Given the description of an element on the screen output the (x, y) to click on. 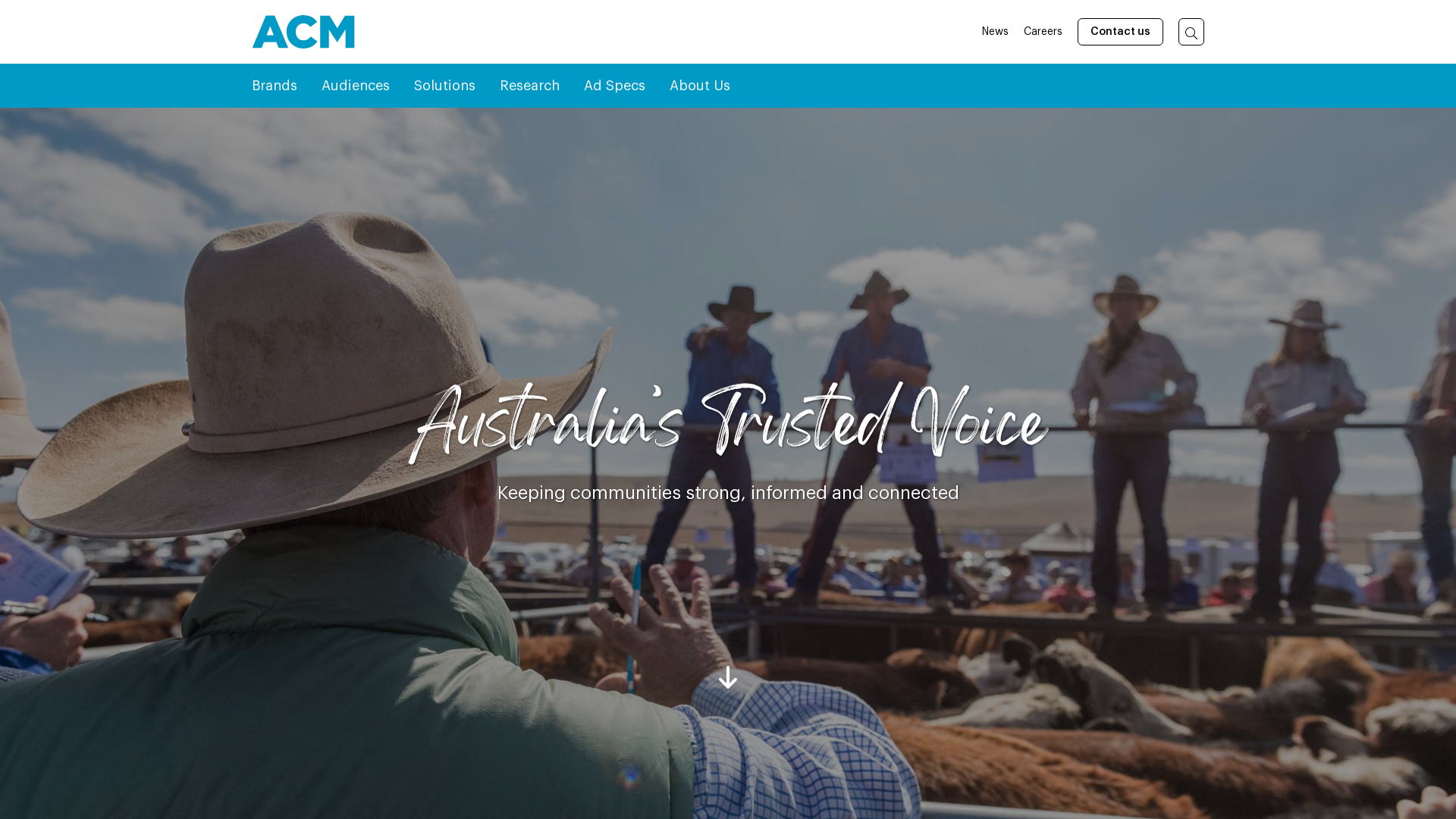
Audiences Element type: text (355, 85)
Research Element type: text (529, 85)
Solutions Element type: text (444, 85)
Brands Element type: text (274, 85)
Contact us Element type: text (1120, 31)
News Element type: text (995, 31)
Ad Specs Element type: text (614, 85)
Careers Element type: text (1042, 31)
About Us Element type: text (699, 85)
